Given the description of an element on the screen output the (x, y) to click on. 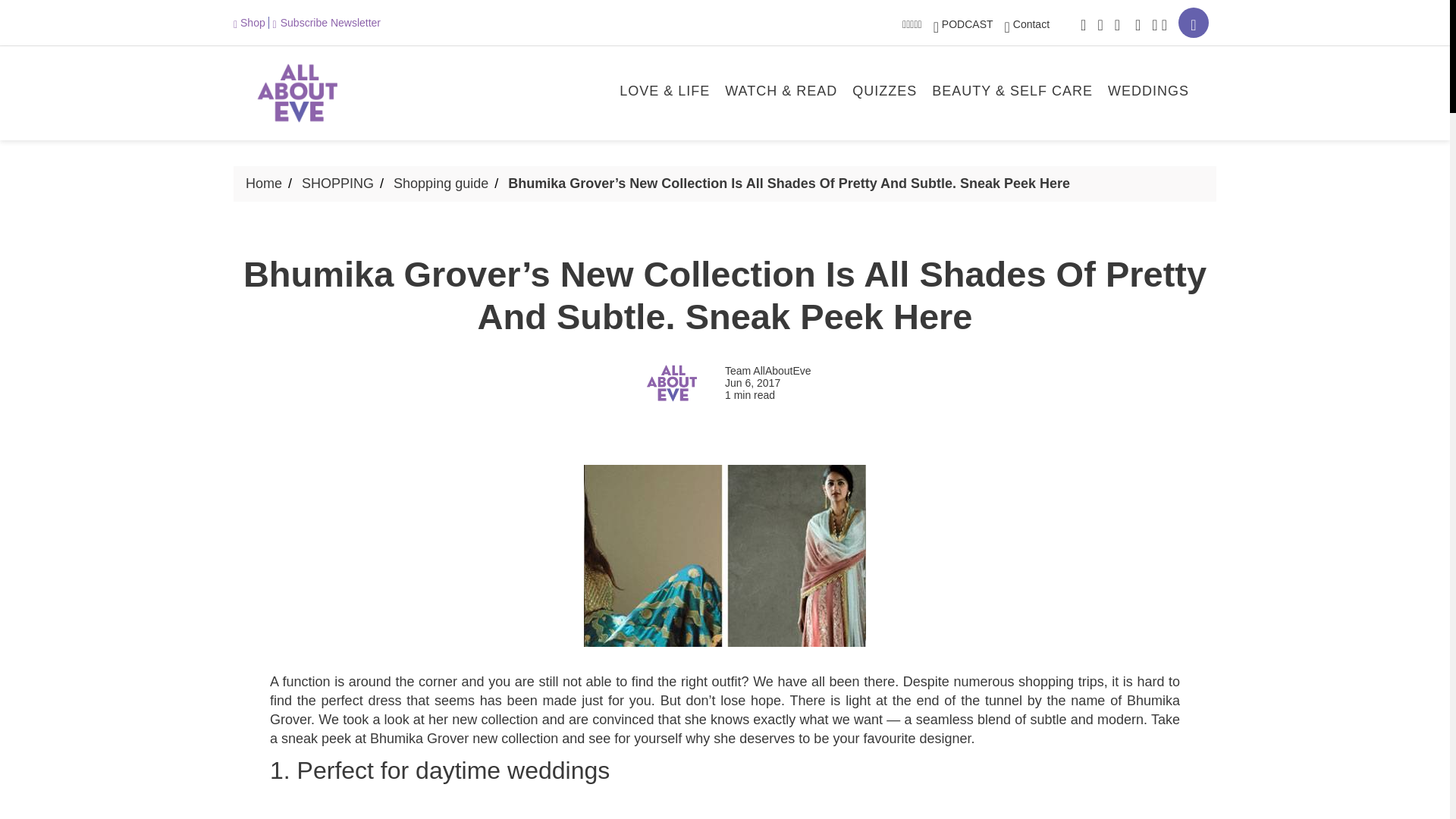
QUIZZES (884, 92)
Shop (250, 22)
Contact (1026, 24)
PODCAST (962, 24)
Home (264, 183)
Subscribe Newsletter (326, 22)
